Given the description of an element on the screen output the (x, y) to click on. 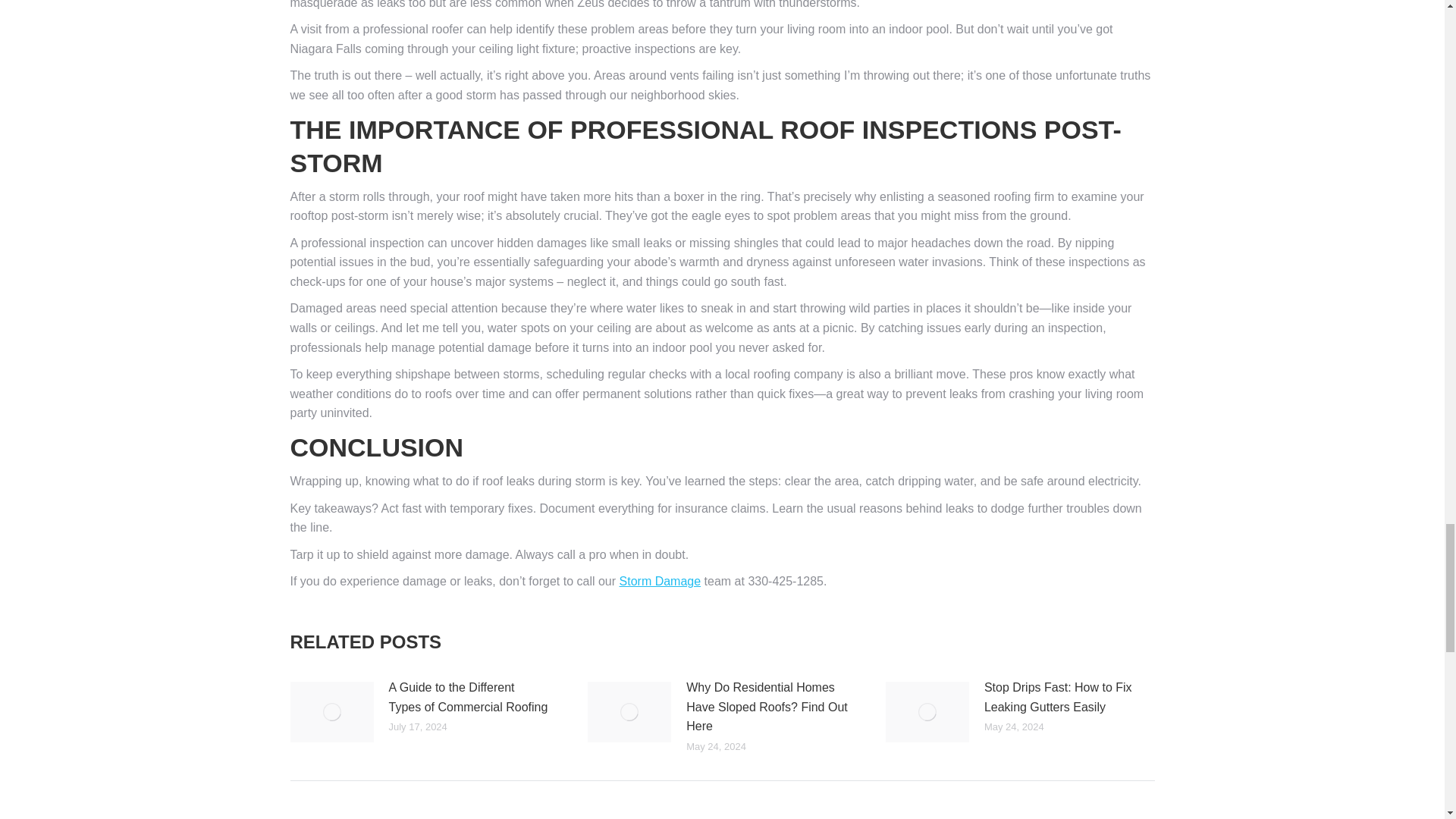
Storm Damage (660, 581)
